Given the description of an element on the screen output the (x, y) to click on. 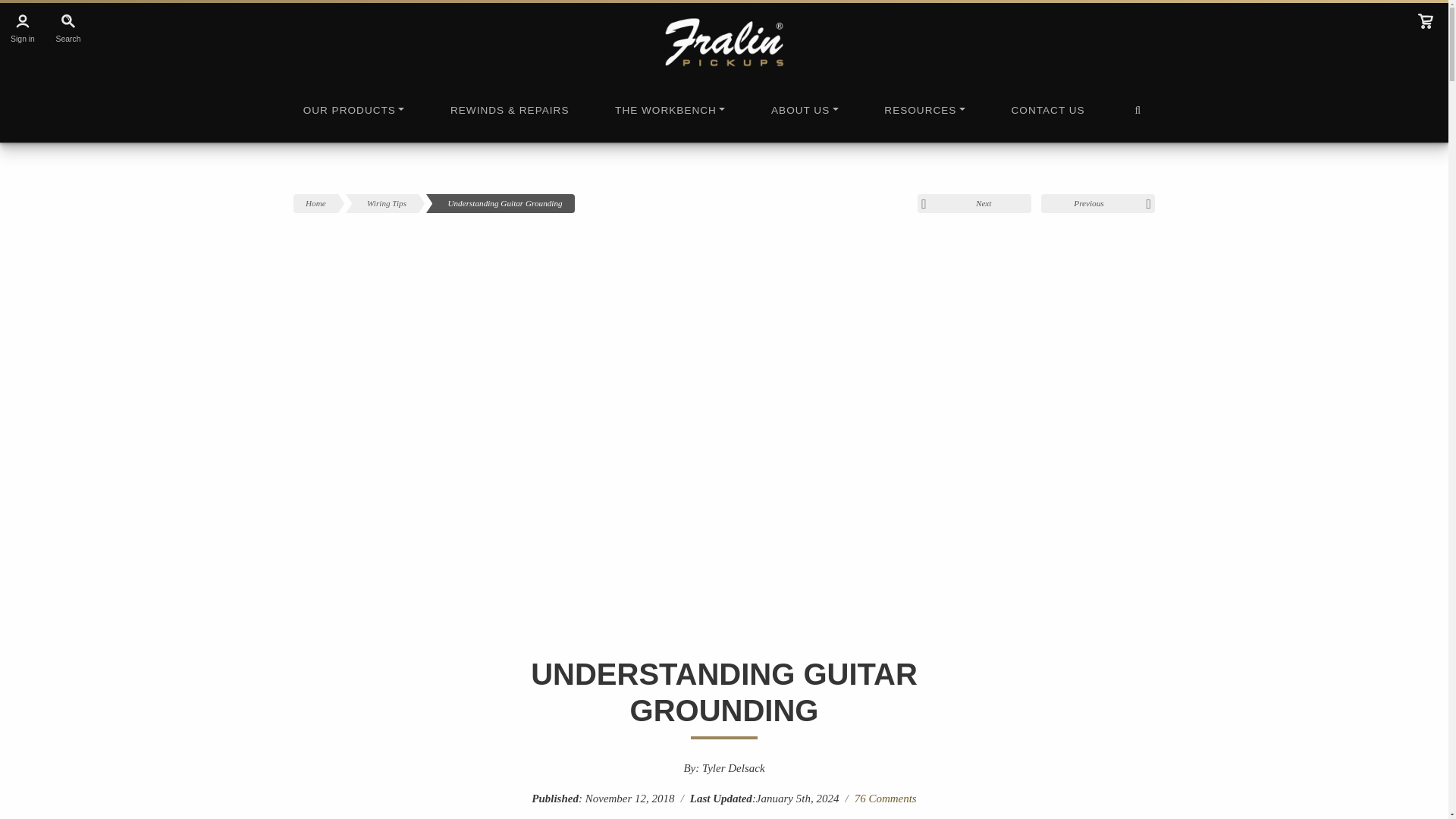
OUR PRODUCTS (353, 116)
0 items in your cart (1425, 21)
Search (67, 27)
Sign in (22, 27)
